Given the description of an element on the screen output the (x, y) to click on. 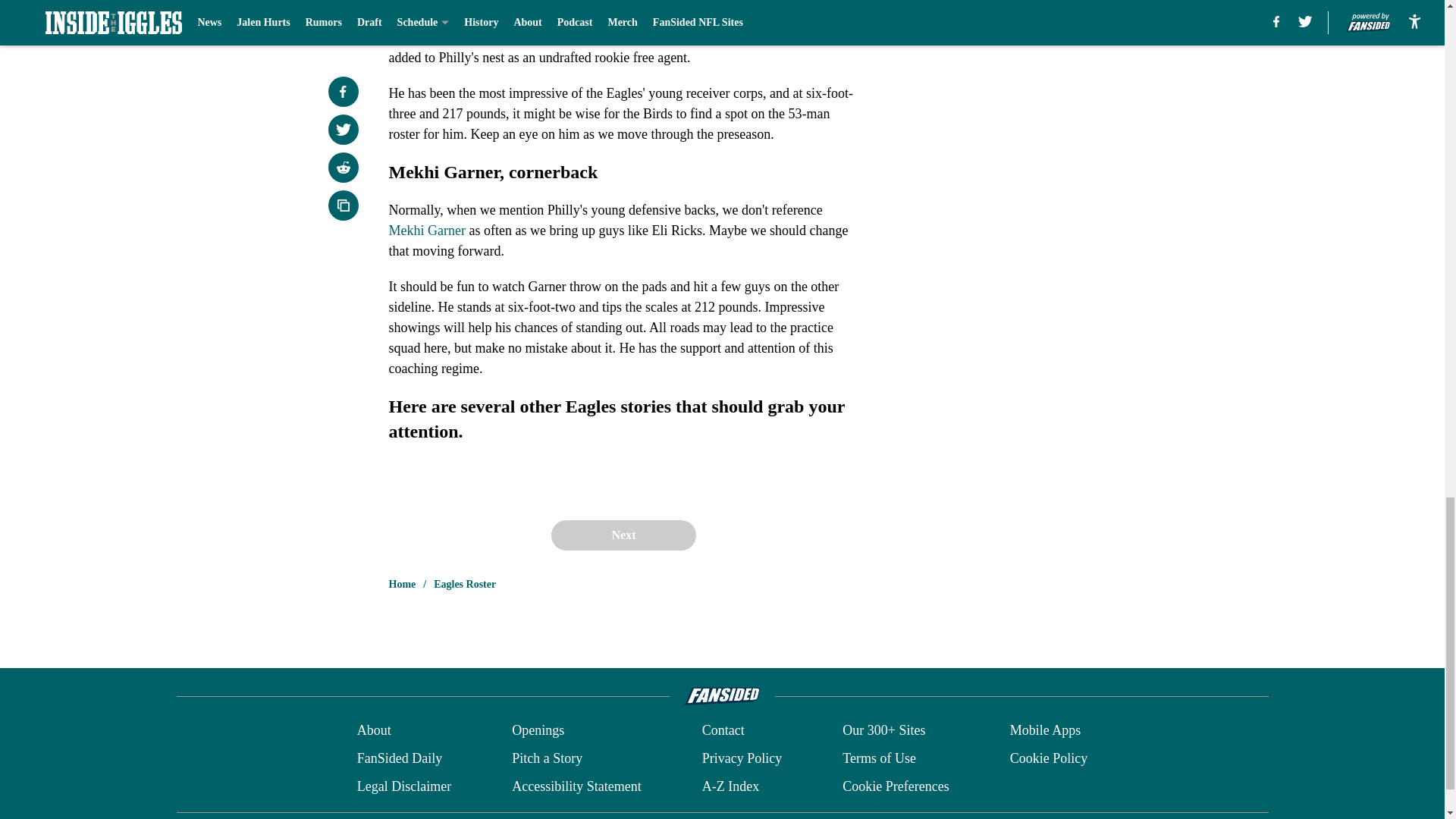
Next (622, 535)
FanSided Daily (399, 758)
Eagles Roster (464, 584)
Terms of Use (879, 758)
Mekhi Garner (426, 230)
Mobile Apps (1045, 730)
Privacy Policy (742, 758)
About (373, 730)
Pitch a Story (547, 758)
Openings (538, 730)
